Given the description of an element on the screen output the (x, y) to click on. 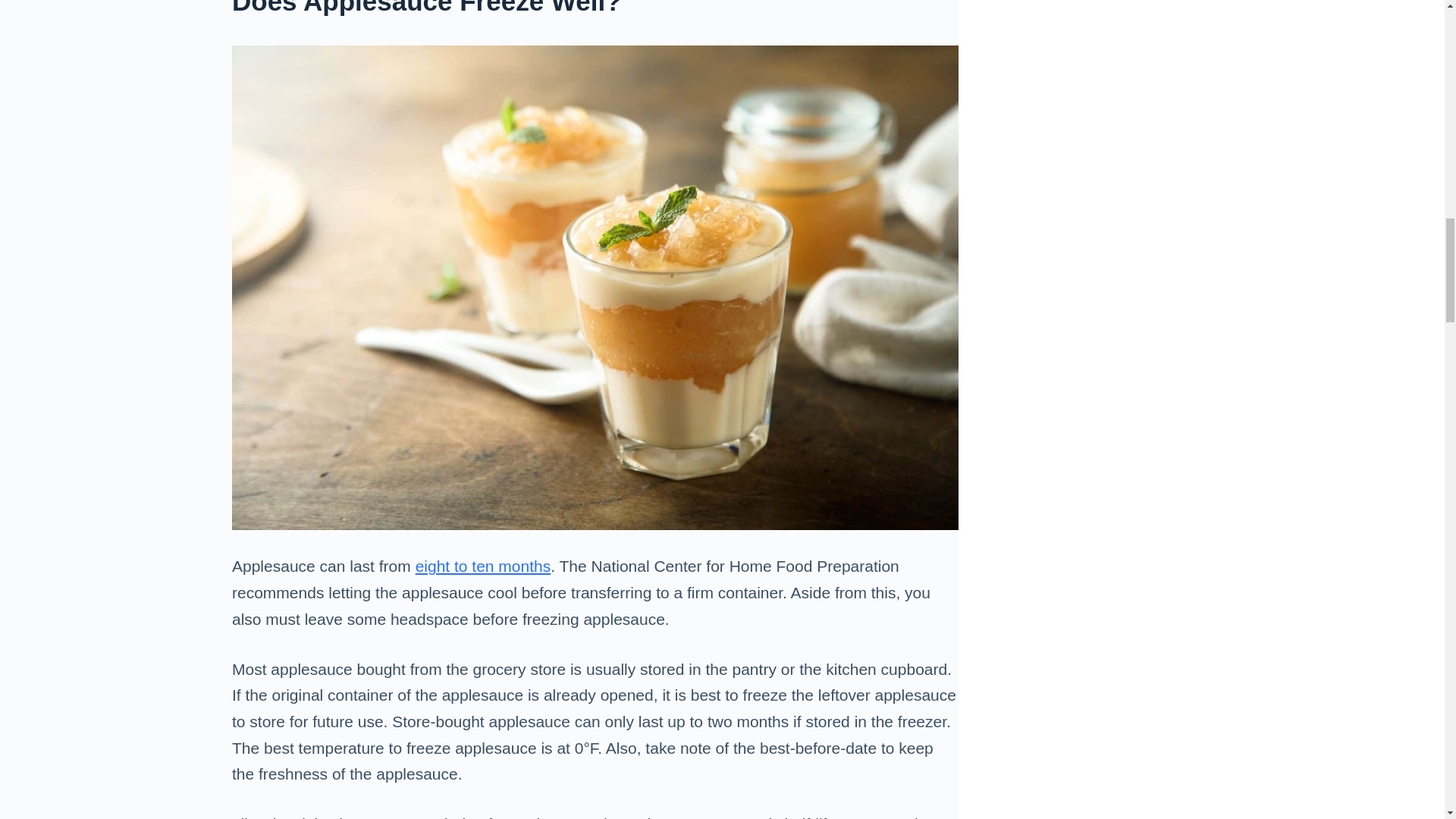
eight to ten months (482, 565)
